Given the description of an element on the screen output the (x, y) to click on. 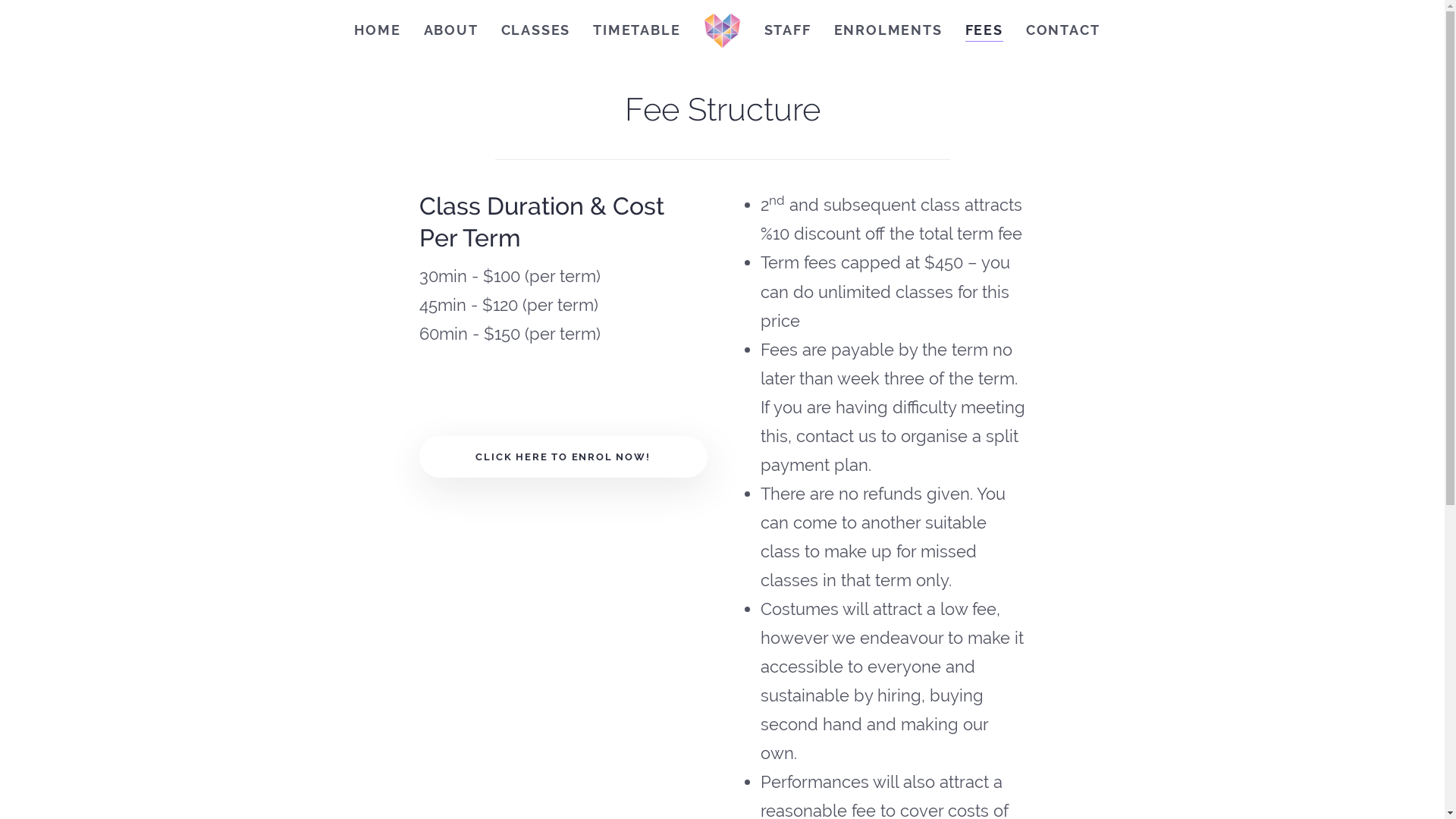
ENROLMENTS Element type: text (887, 30)
CLICK HERE TO ENROL NOW! Element type: text (562, 456)
TIMETABLE Element type: text (636, 30)
HOME Element type: text (376, 30)
ABOUT Element type: text (450, 30)
CLASSES Element type: text (535, 30)
STAFF Element type: text (787, 30)
CONTACT Element type: text (1062, 30)
FEES Element type: text (983, 30)
